Given the description of an element on the screen output the (x, y) to click on. 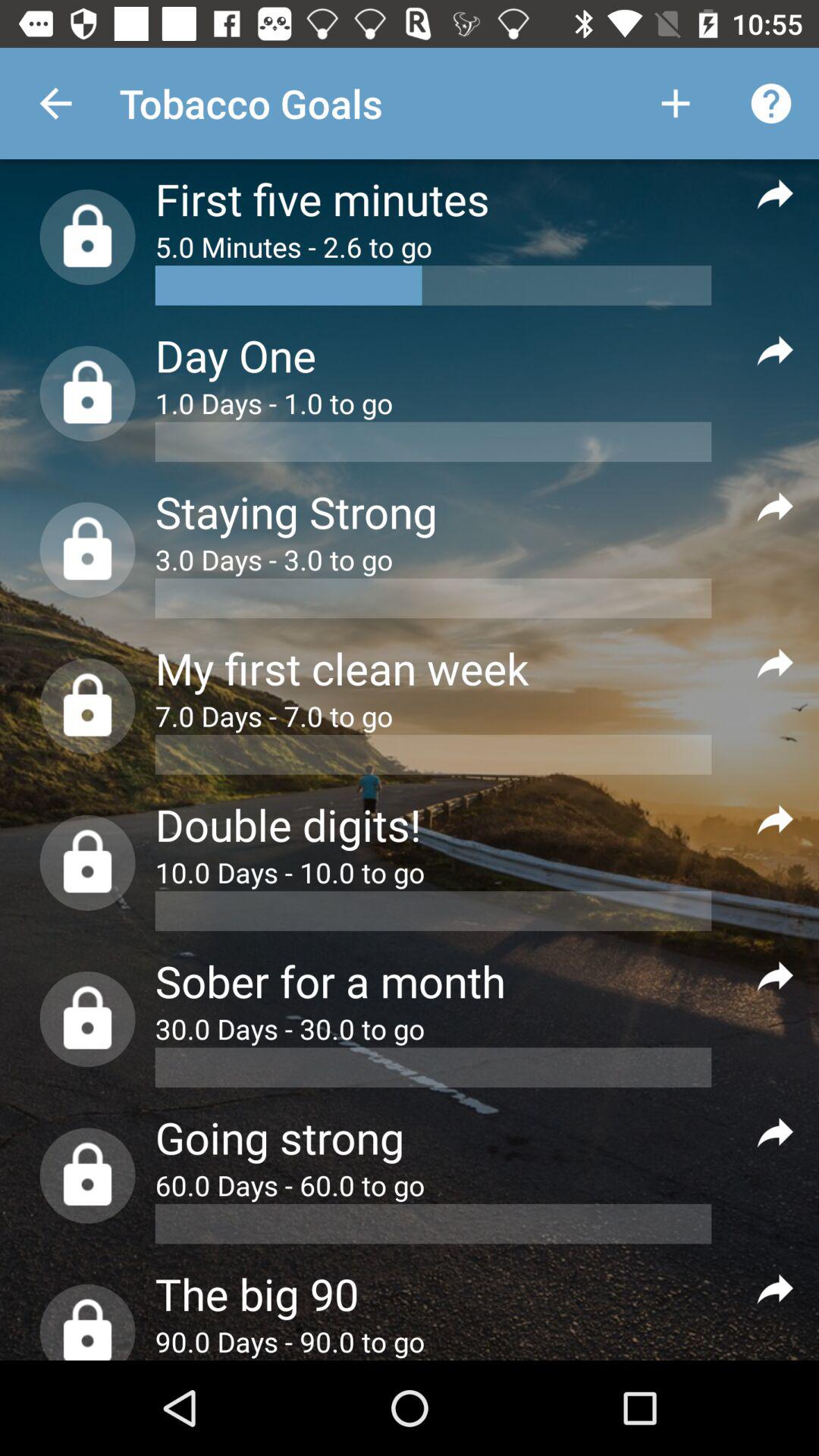
launch app next to tobacco goals (675, 103)
